Given the description of an element on the screen output the (x, y) to click on. 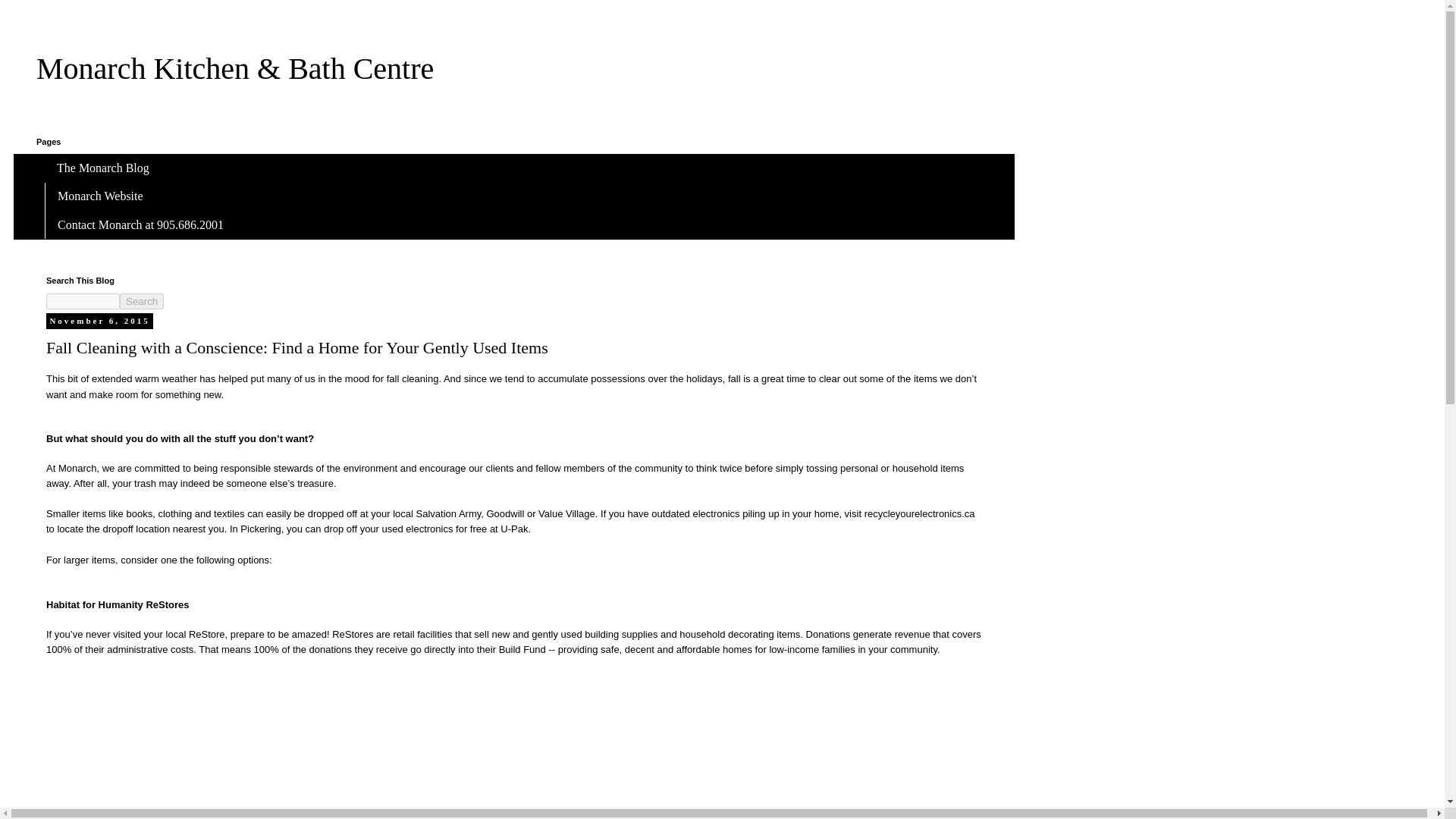
Search (141, 301)
Contact Monarch at 905.686.2001 (140, 224)
local ReStore (195, 633)
search (82, 301)
recycleyourelectronics.ca (919, 513)
search (141, 301)
The Monarch Blog (103, 168)
Search (141, 301)
Search (141, 301)
dropoff location nearest you (162, 528)
